Given the description of an element on the screen output the (x, y) to click on. 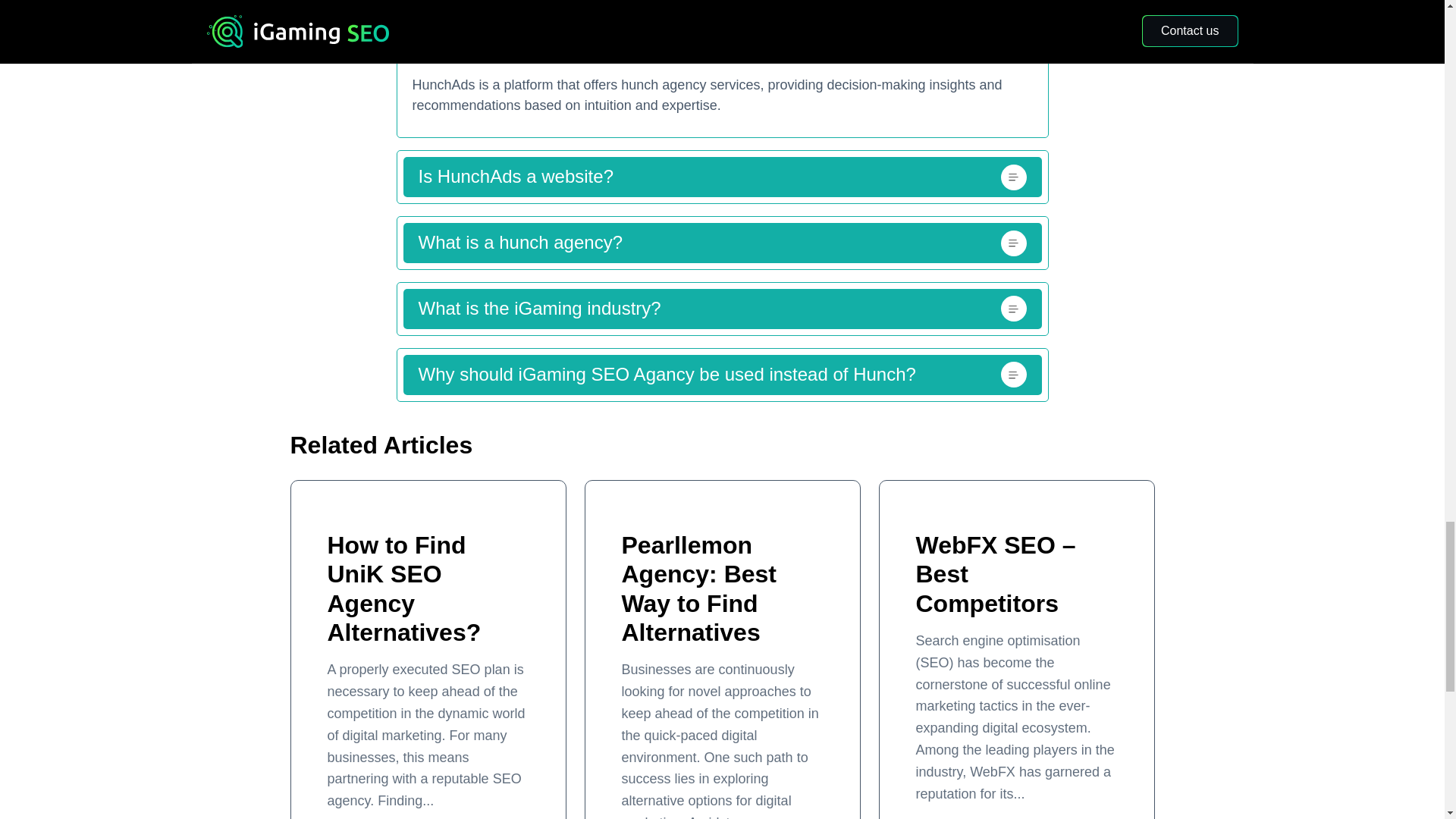
Pearllemon Agency: Best Way to Find Alternatives (699, 588)
How to Find UniK SEO Agency Alternatives? (404, 588)
